Given the description of an element on the screen output the (x, y) to click on. 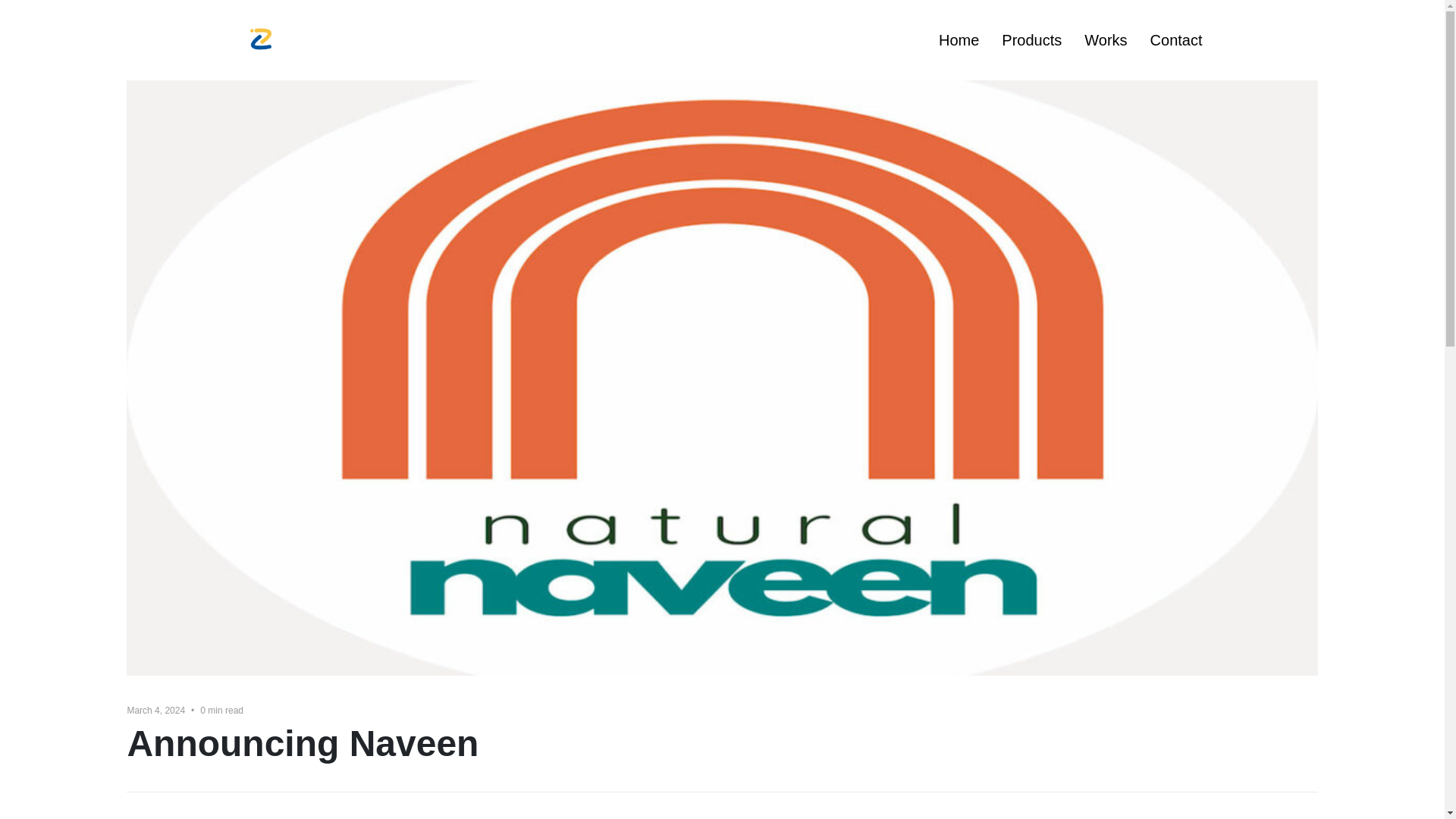
Products (1031, 39)
Contact (1176, 39)
Home (958, 39)
Works (1105, 39)
